Given the description of an element on the screen output the (x, y) to click on. 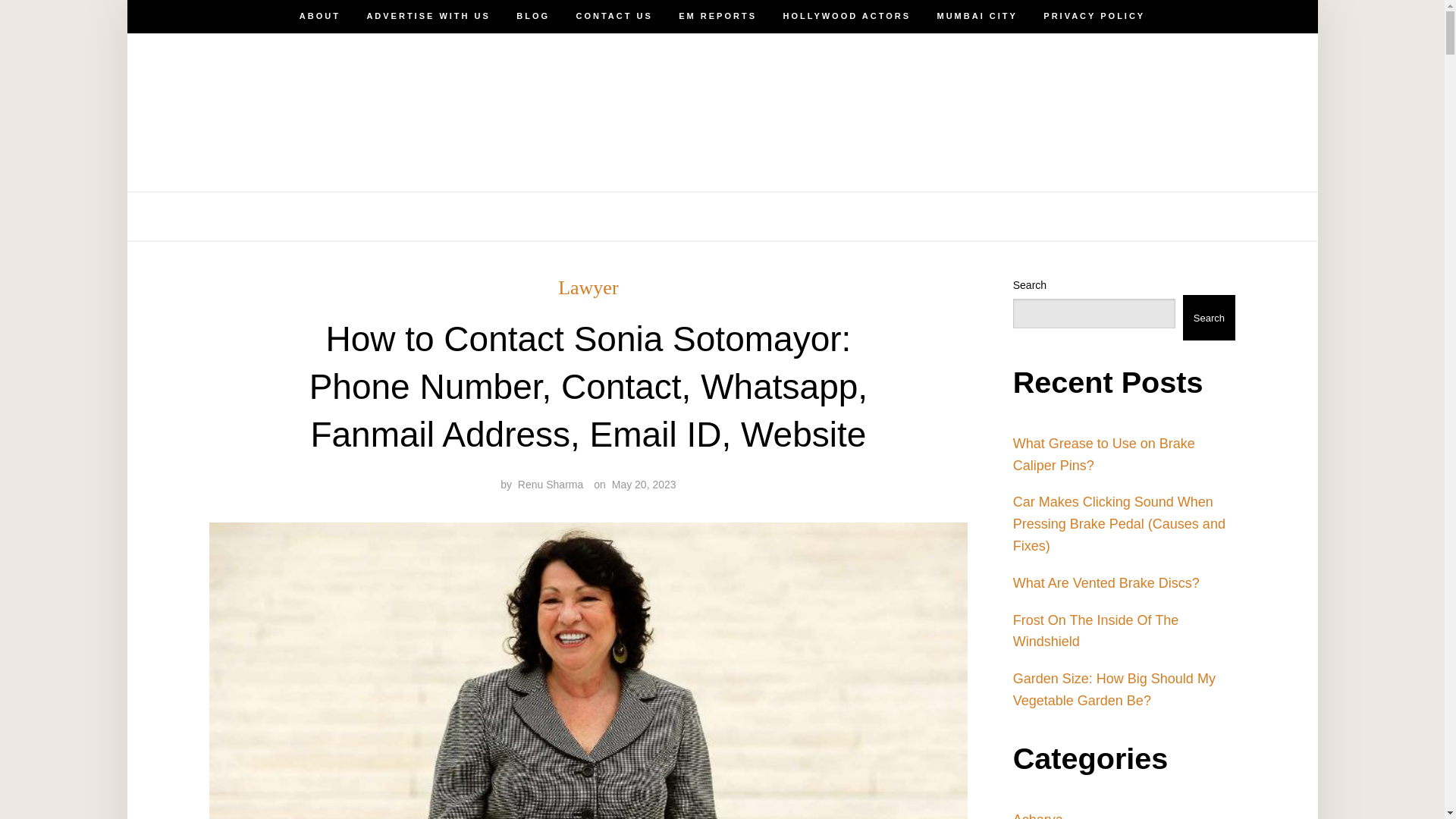
Renu Sharma (550, 484)
ABOUT (319, 216)
PRIVACY POLICY (1093, 216)
CONTACT US (614, 16)
Submit (64, 23)
ABOUT (319, 16)
PRIVACY POLICY (1093, 16)
BLOG (533, 216)
HOLLYWOOD ACTORS (847, 16)
Lawyer (587, 287)
CONTACT US (614, 216)
EM REPORTS (717, 16)
MUMBAI CITY (977, 216)
MUMBAI CITY (977, 16)
HOLLYWOOD ACTORS (847, 216)
